Given the description of an element on the screen output the (x, y) to click on. 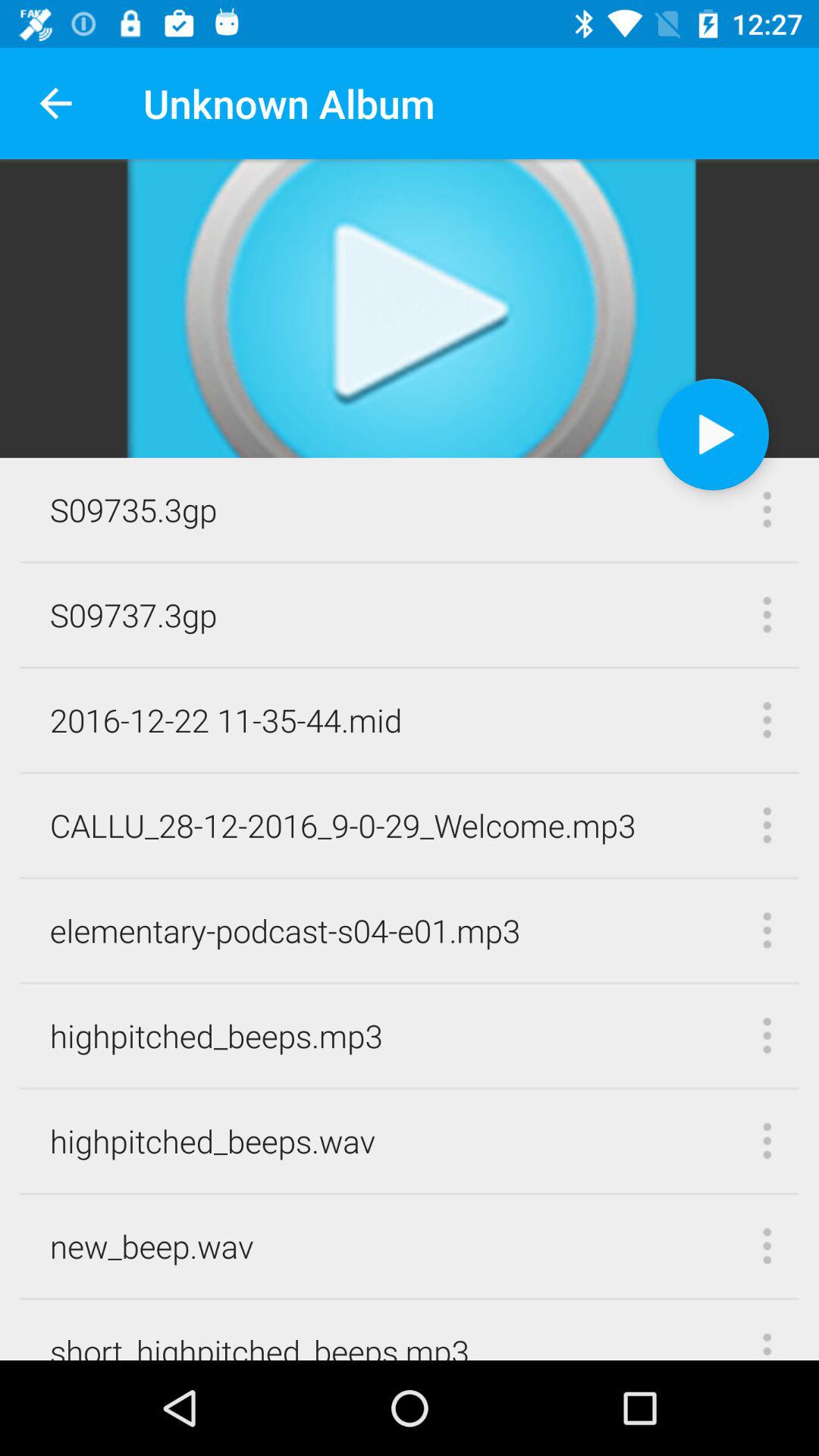
flip until callu_28 12 2016_9 item (342, 824)
